Given the description of an element on the screen output the (x, y) to click on. 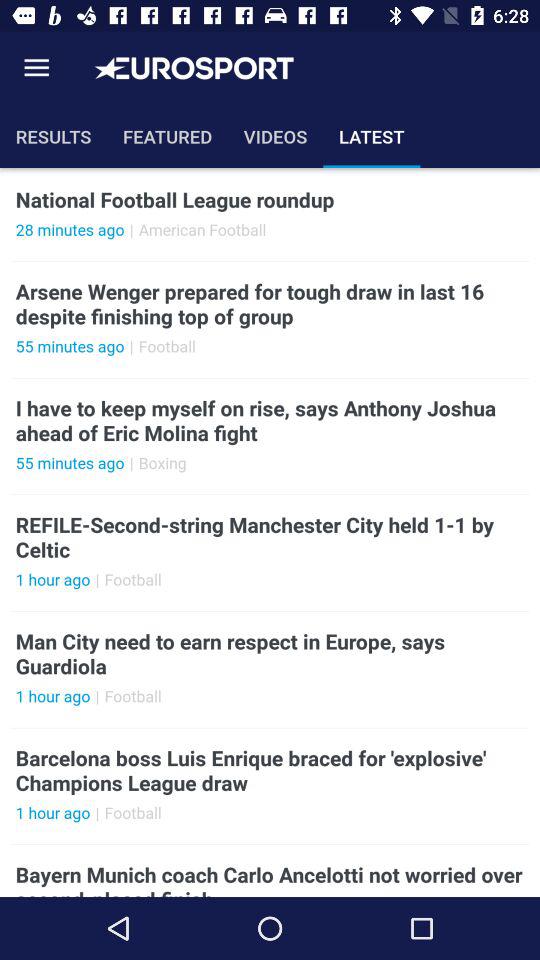
title of the page beside menu button (194, 68)
